Given the description of an element on the screen output the (x, y) to click on. 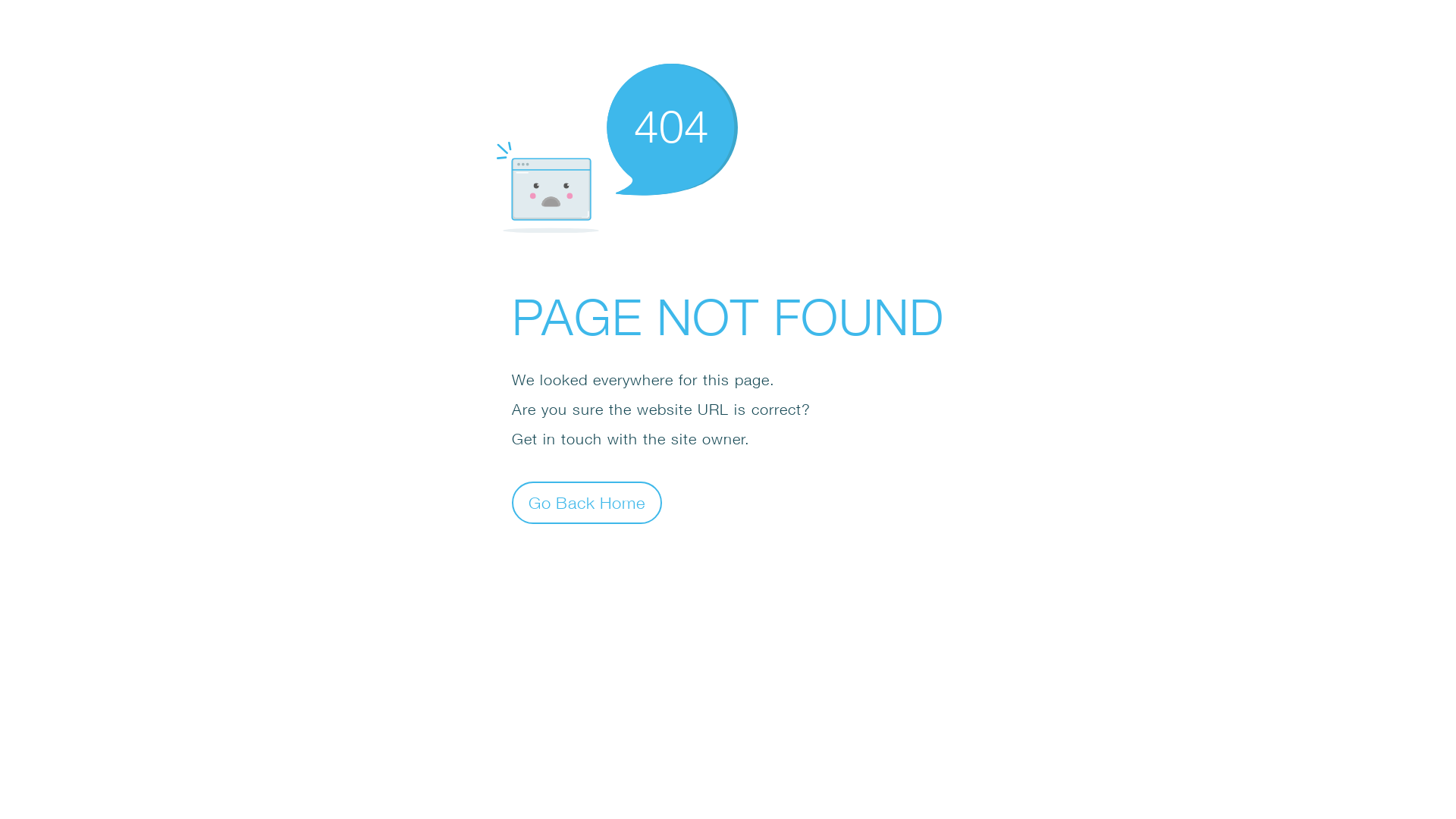
Go Back Home Element type: text (586, 502)
